Given the description of an element on the screen output the (x, y) to click on. 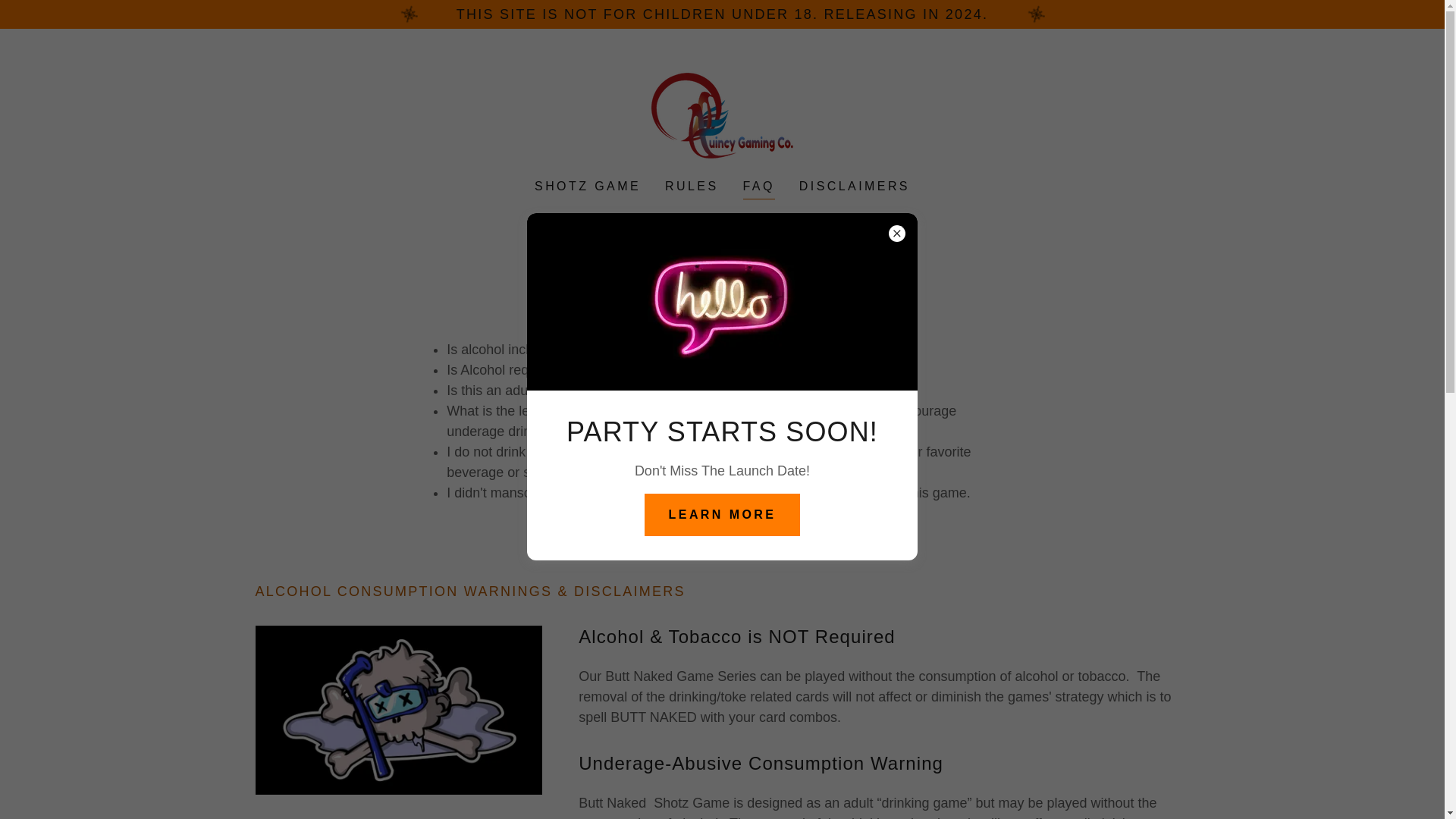
LEARN MORE (722, 514)
RULES (691, 185)
FAQ (758, 188)
DISCLAIMERS (854, 185)
SHOTZ GAME (587, 185)
Fun Fearless Party Games (721, 114)
